Given the description of an element on the screen output the (x, y) to click on. 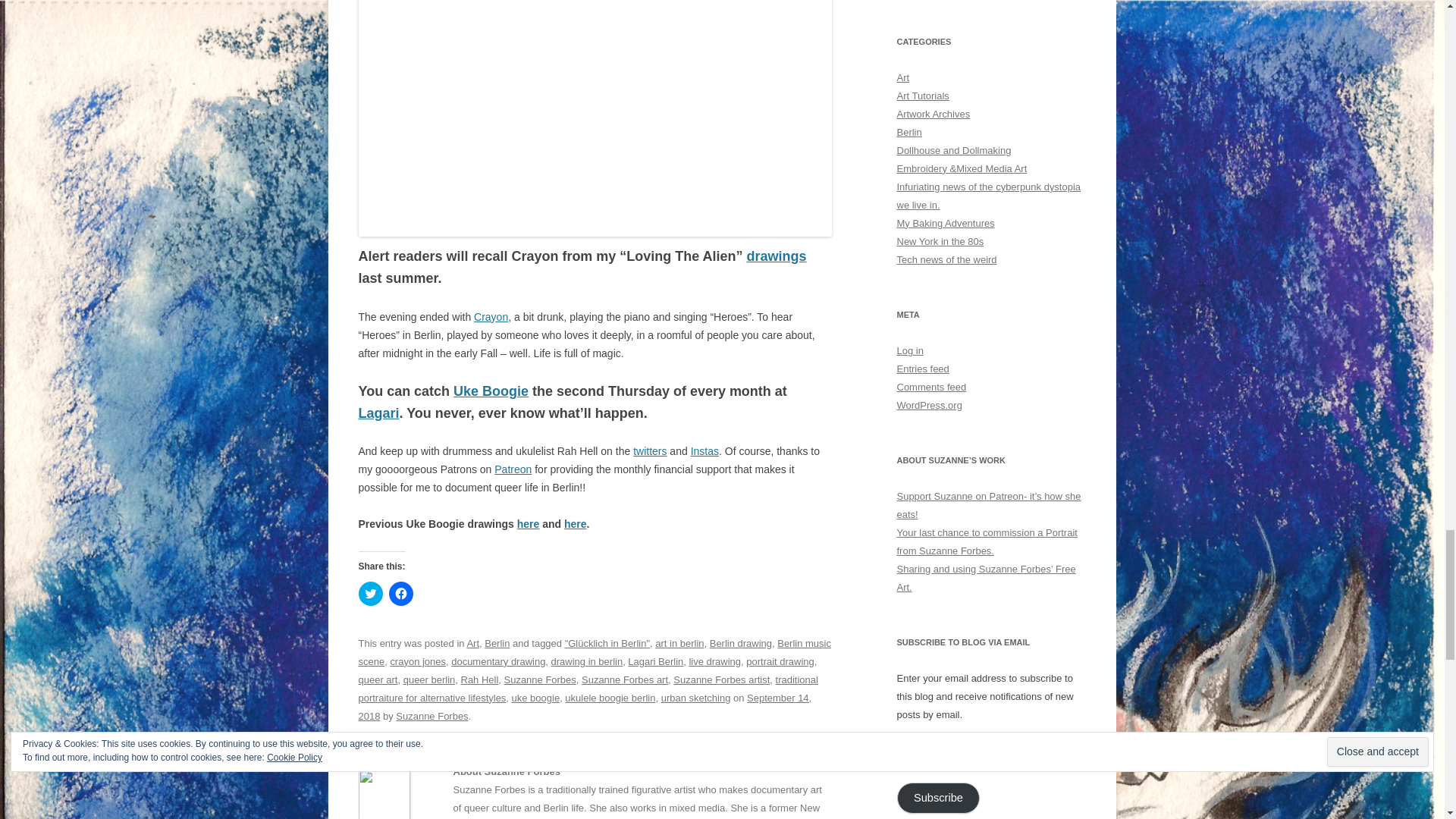
crayon jones (417, 661)
Click to share on Facebook (400, 593)
Berlin music scene (593, 652)
portrait drawing (779, 661)
drawing in berlin (587, 661)
Berlin drawing (740, 643)
Instas (704, 451)
Art (472, 643)
queer art (377, 679)
documentary drawing (497, 661)
View all posts by Suzanne Forbes (431, 715)
here (528, 523)
Uke Boogie (490, 391)
Crayon (491, 316)
Patreon (513, 469)
